Given the description of an element on the screen output the (x, y) to click on. 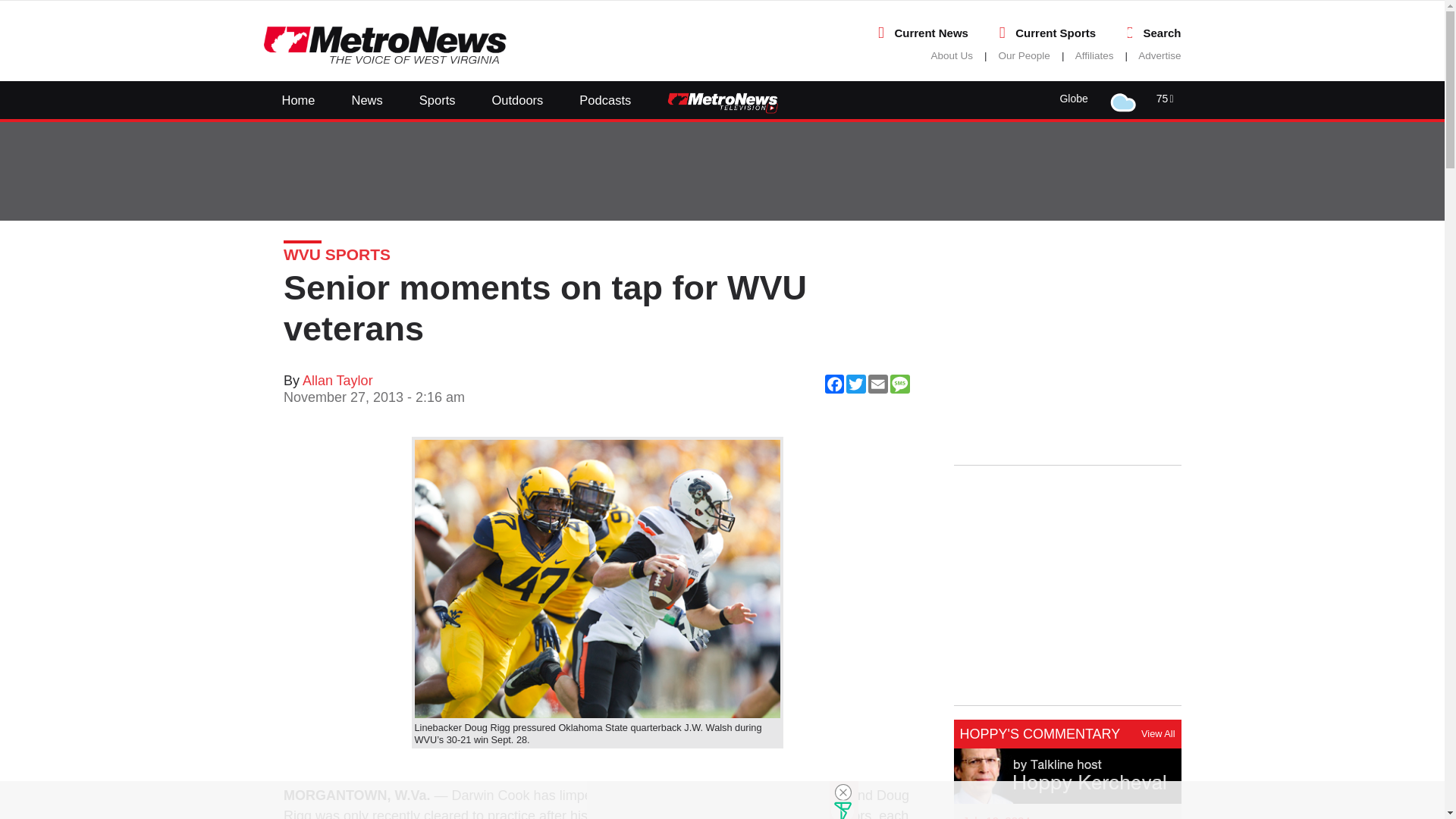
Podcasts (604, 99)
Search (1161, 32)
About Us (952, 55)
Affiliates (1094, 55)
Current News (930, 32)
News (367, 99)
Rigg Walsh (595, 579)
Facebook (1043, 479)
Our People (1023, 55)
Message (1124, 479)
3rd party ad content (1066, 585)
3rd party ad content (1066, 344)
Advertise (1159, 55)
Sports (437, 99)
3rd party ad content (707, 800)
